Given the description of an element on the screen output the (x, y) to click on. 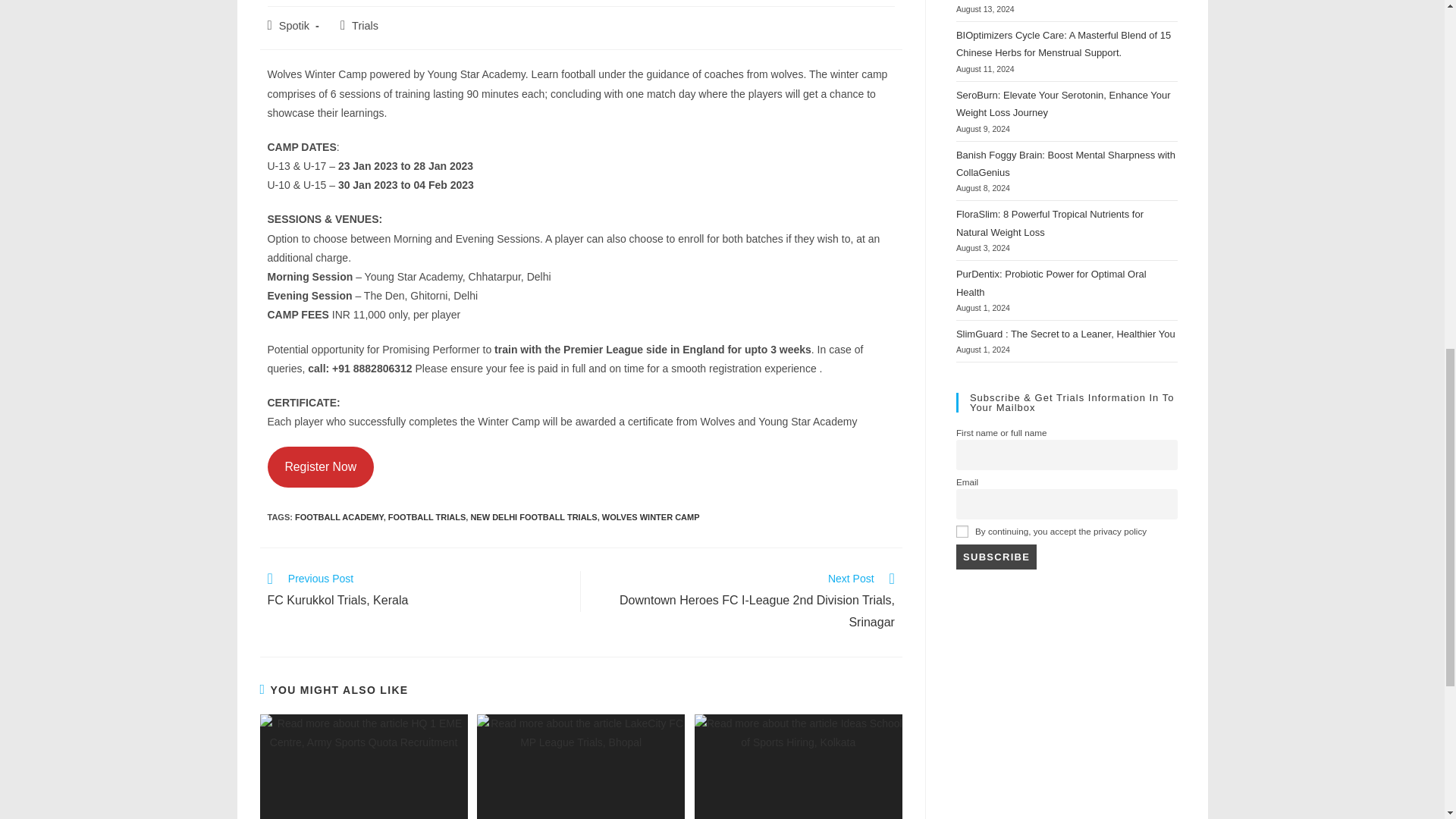
FOOTBALL TRIALS (426, 516)
Spotik (293, 25)
Subscribe (996, 556)
WOLVES WINTER CAMP (651, 516)
NEW DELHI FOOTBALL TRIALS (533, 516)
Trials (365, 25)
FOOTBALL ACADEMY (339, 516)
Register Now (320, 466)
Posts by Spotik (293, 25)
